Given the description of an element on the screen output the (x, y) to click on. 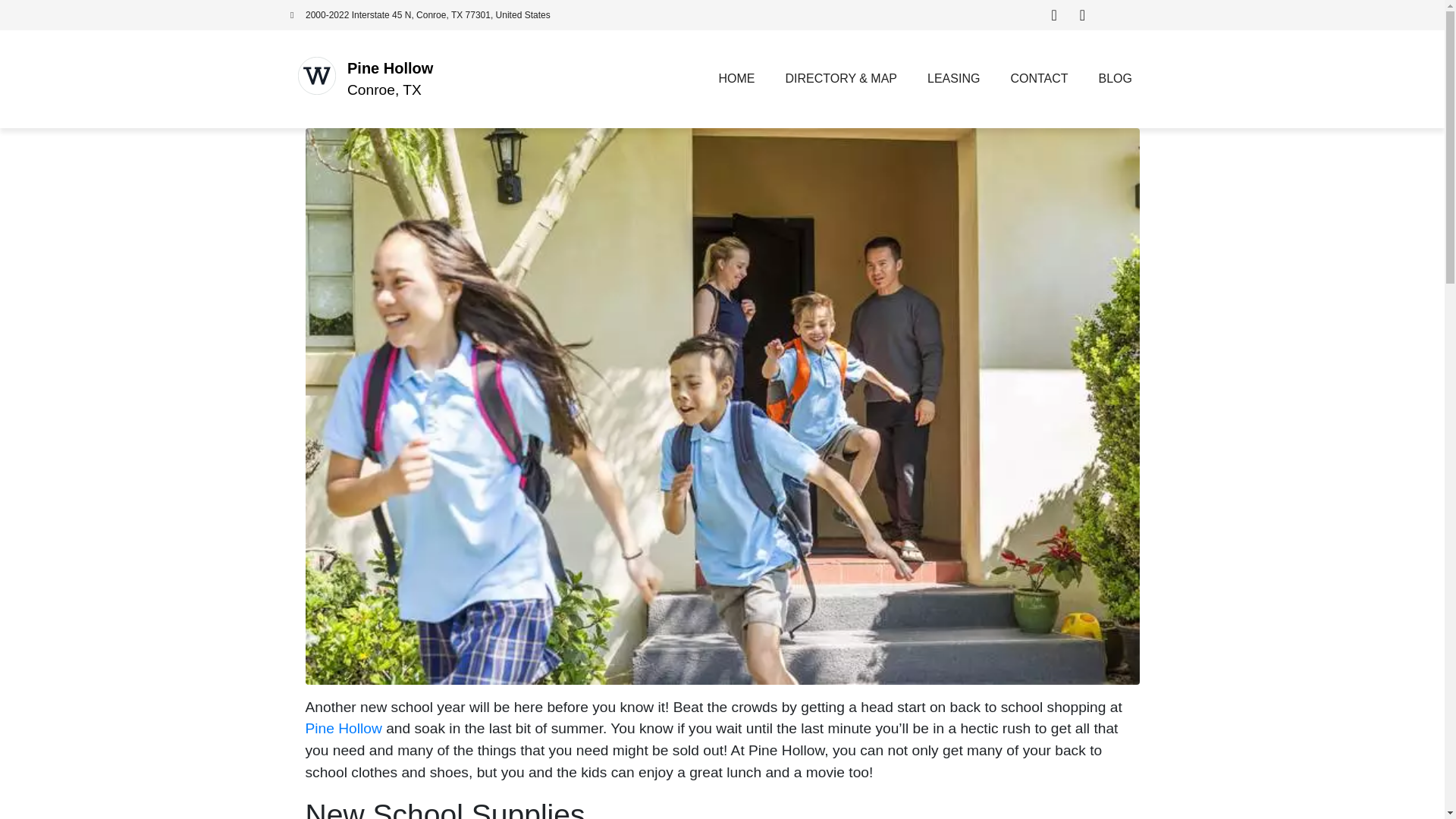
Pine Hollow (389, 67)
CONTACT (1038, 78)
Pine Hollow (342, 728)
BLOG (1115, 78)
HOME (736, 78)
LEASING (953, 78)
